Given the description of an element on the screen output the (x, y) to click on. 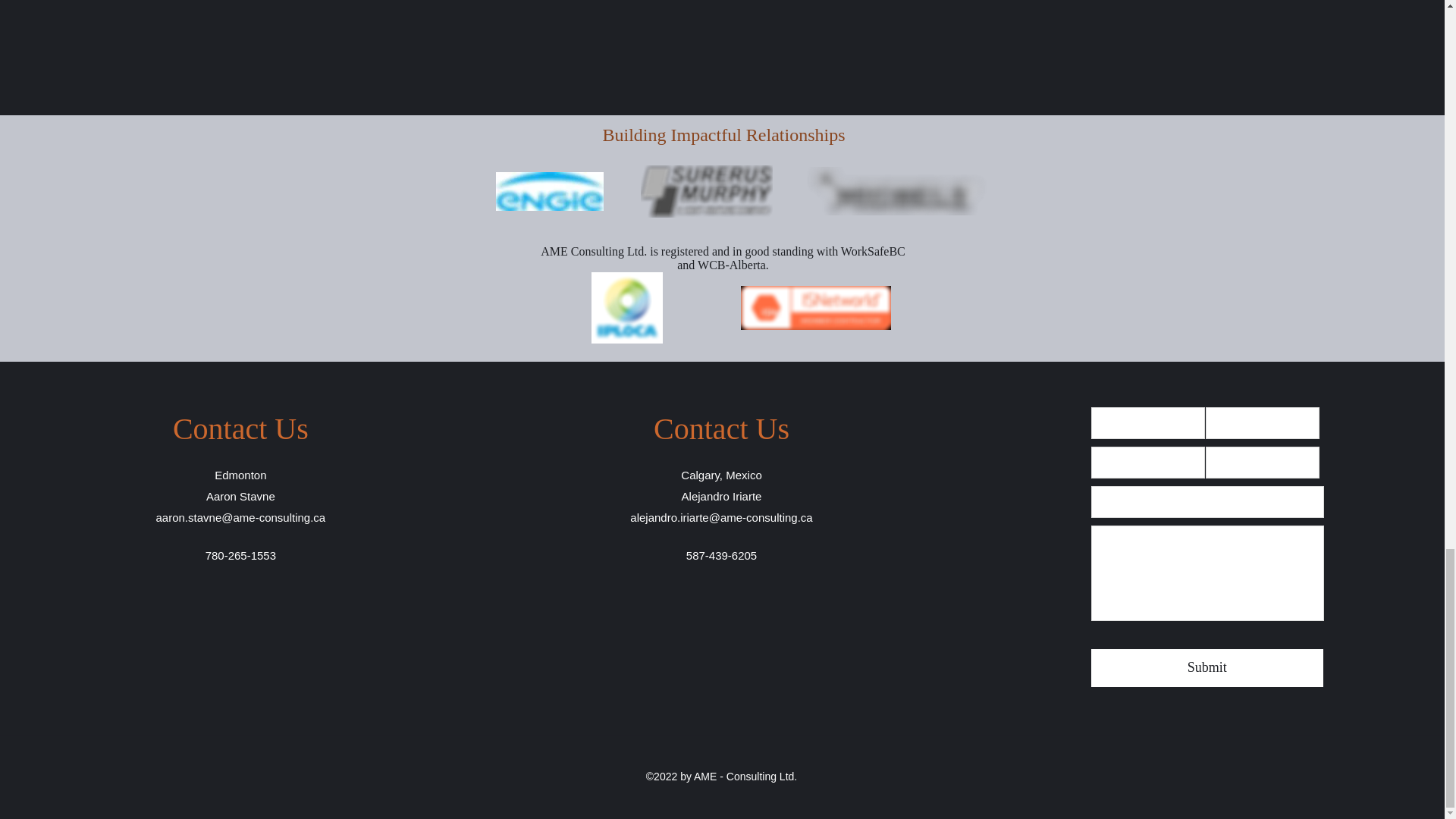
Submit (1206, 668)
